Given the description of an element on the screen output the (x, y) to click on. 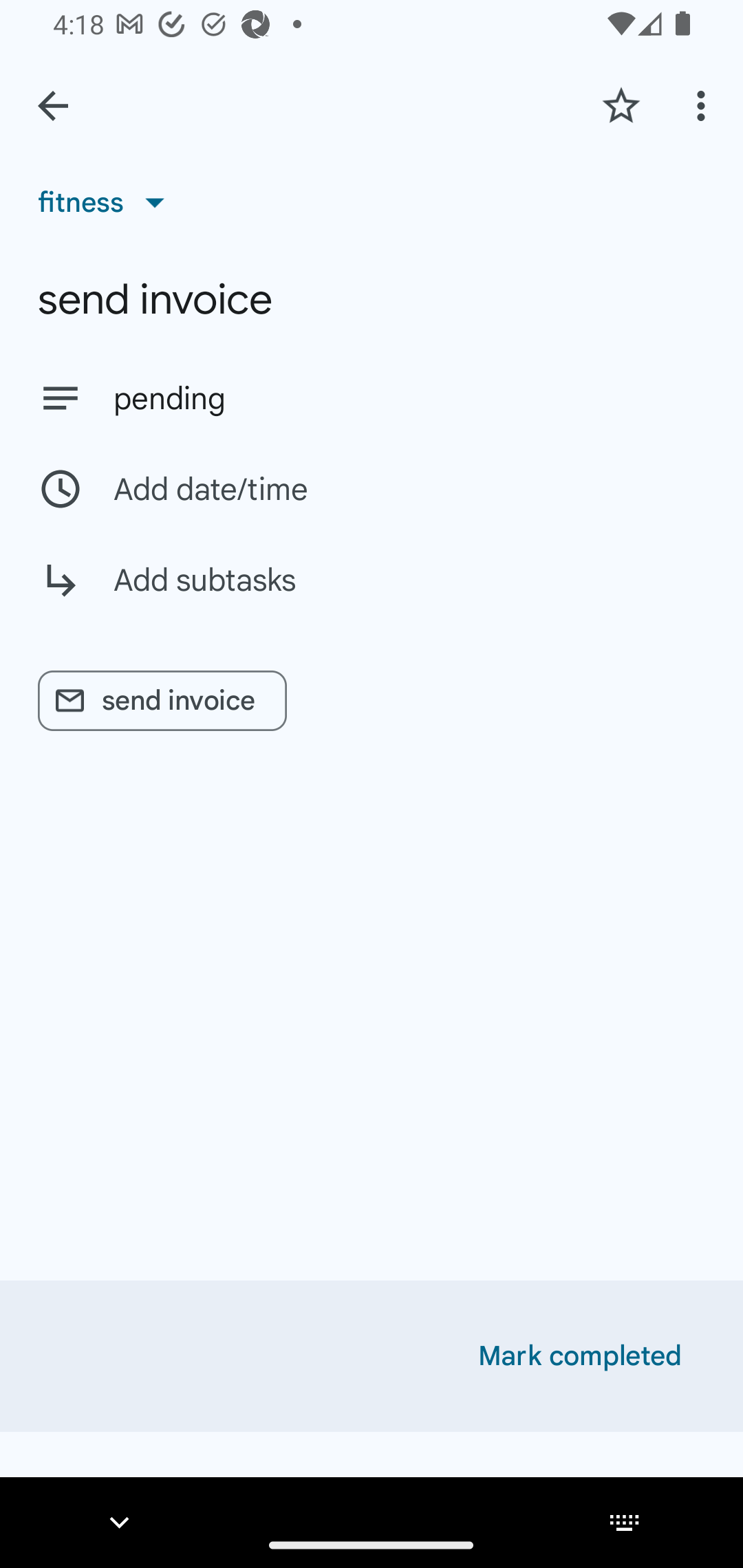
Back (53, 105)
Add star (620, 105)
More options (704, 105)
fitness List, fitness selected, 1 of 14 (107, 202)
send invoice (371, 299)
pending (371, 397)
pending (409, 397)
Add date/time (371, 488)
Add subtasks (371, 594)
send invoice Related link (161, 700)
Mark completed (580, 1355)
